Given the description of an element on the screen output the (x, y) to click on. 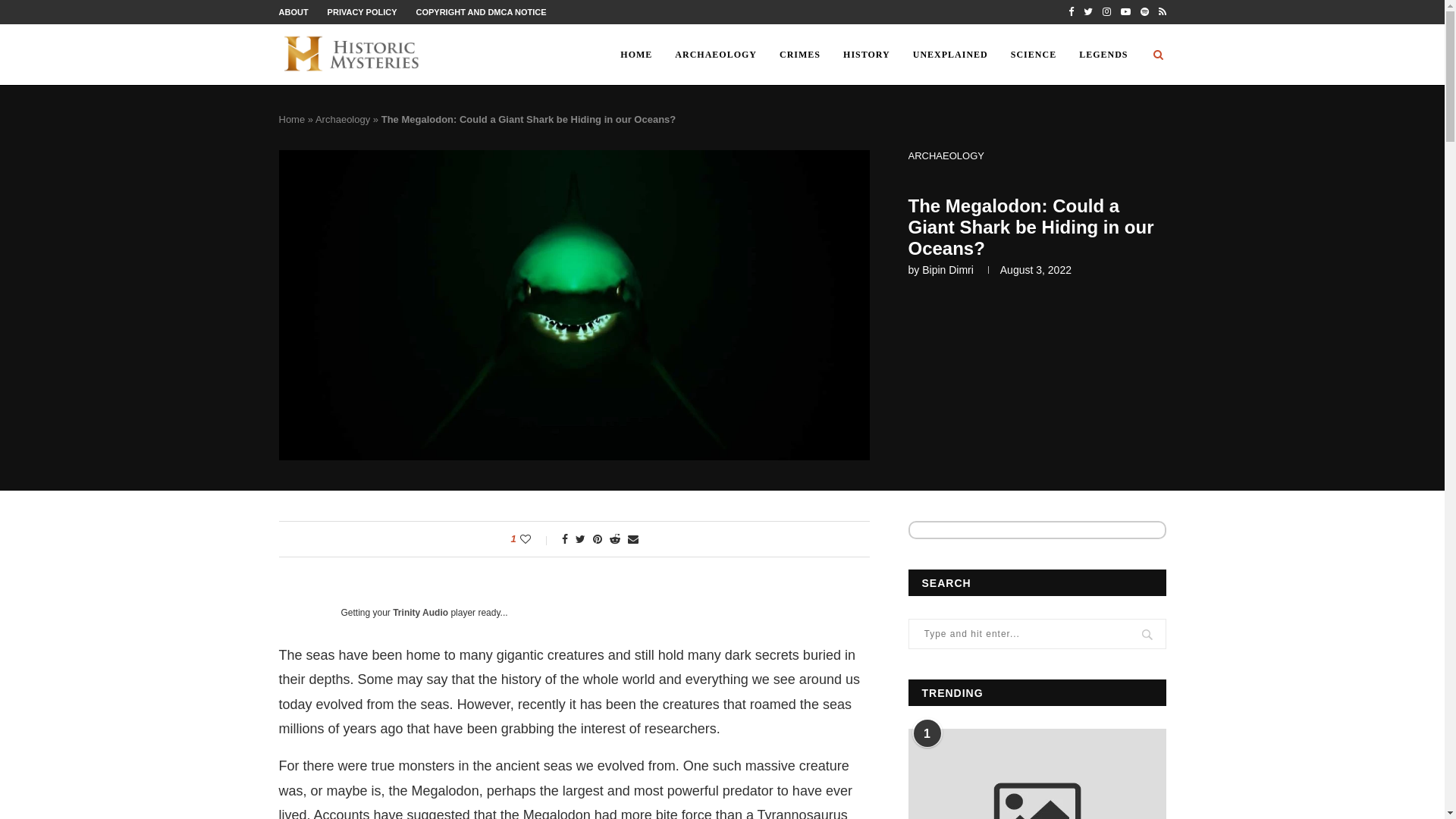
CRIMES (799, 54)
Archaeology (342, 119)
UNEXPLAINED (949, 54)
HISTORY (866, 54)
HOME (635, 54)
Like (535, 539)
Bipin Dimri (947, 269)
Paranthropus: The Last of the Ape People (1037, 773)
PRIVACY POLICY (362, 11)
SCIENCE (1032, 54)
